Given the description of an element on the screen output the (x, y) to click on. 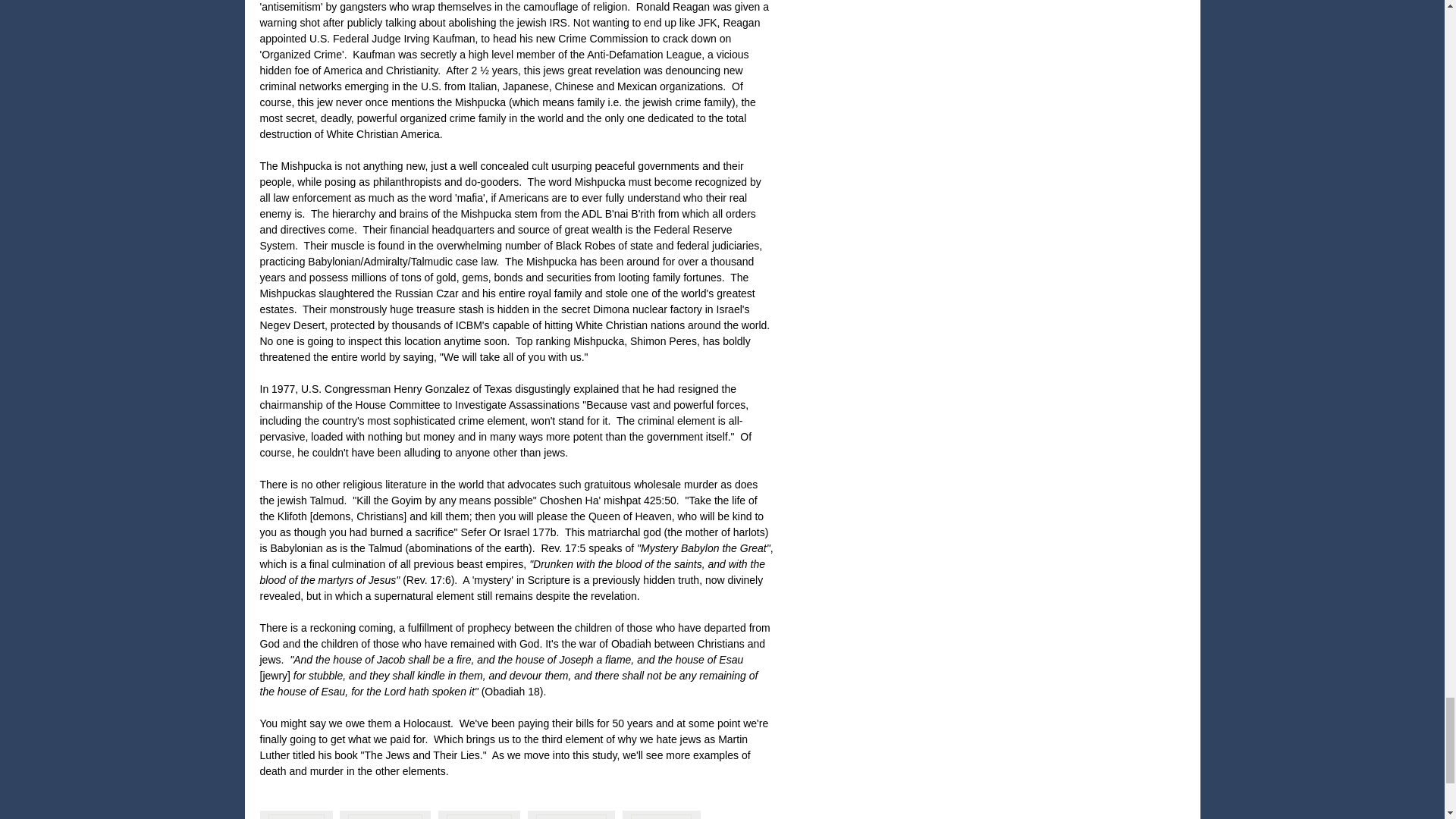
Submit this post on reddit.com (661, 814)
Digg this post on digg.com (295, 814)
Share on Facebook (384, 814)
Bookmark this post on Google (478, 814)
